Given the description of an element on the screen output the (x, y) to click on. 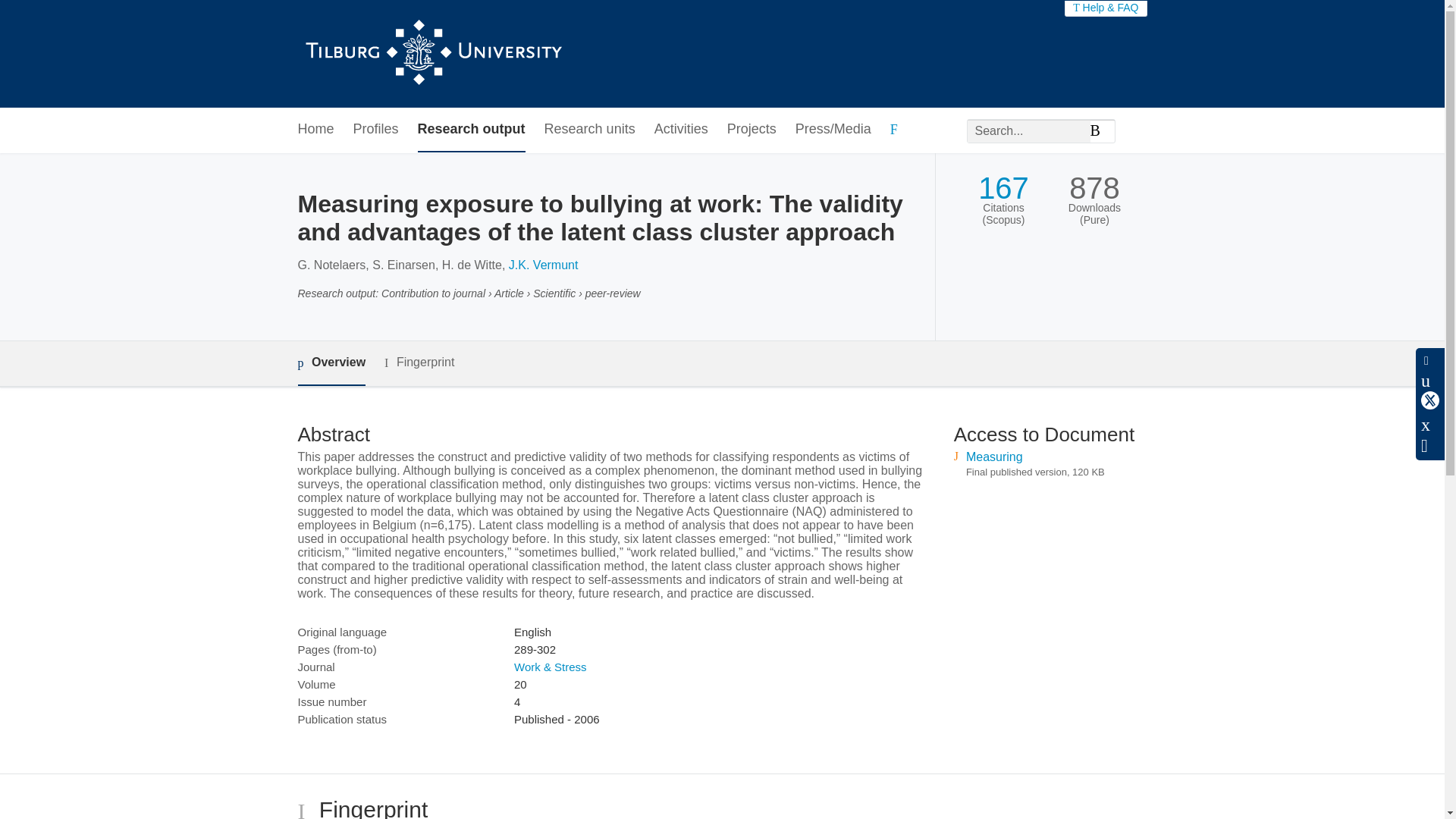
Activities (680, 129)
Research units (589, 129)
Research output (471, 129)
J.K. Vermunt (543, 264)
Measuring (994, 456)
Fingerprint (419, 362)
Profiles (375, 129)
Tilburg University Research Portal Home (433, 53)
Projects (751, 129)
167 (1003, 188)
